Given the description of an element on the screen output the (x, y) to click on. 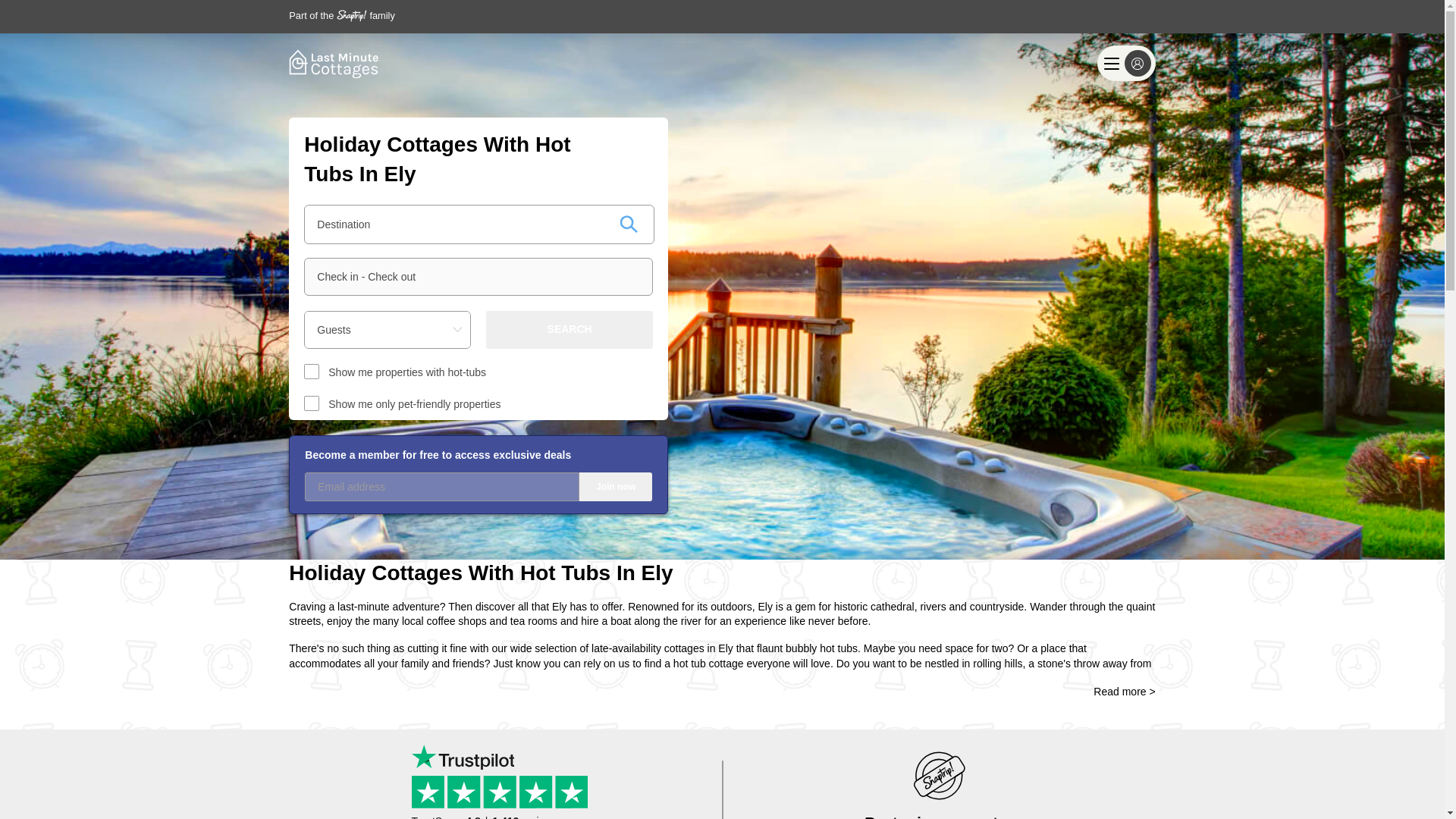
Part of the family (341, 15)
